Given the description of an element on the screen output the (x, y) to click on. 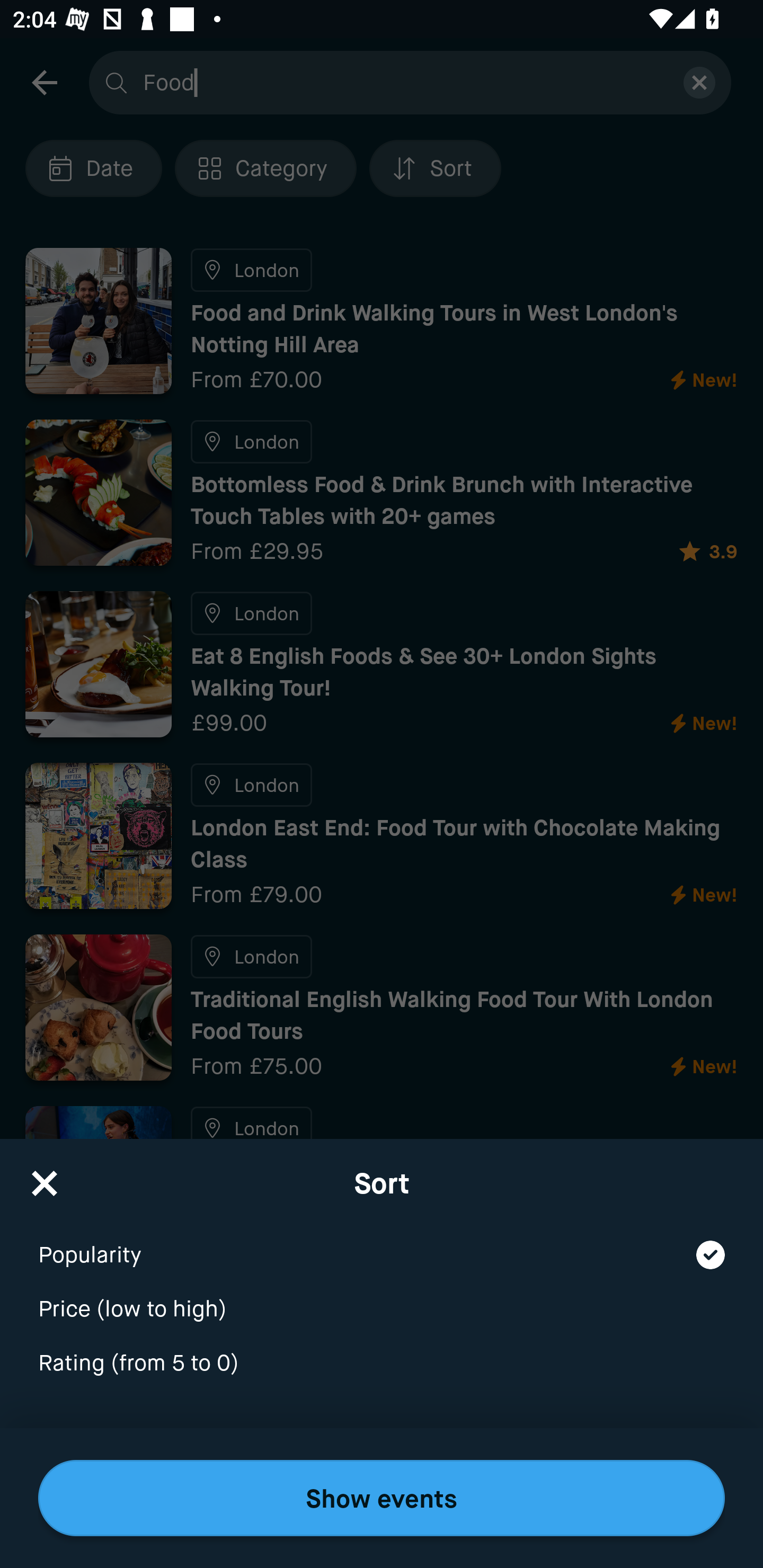
CloseButton (44, 1177)
Popularity Selected Icon (381, 1243)
Price (low to high) (381, 1297)
Rating (from 5 to 0) (381, 1362)
Show events (381, 1497)
